Given the description of an element on the screen output the (x, y) to click on. 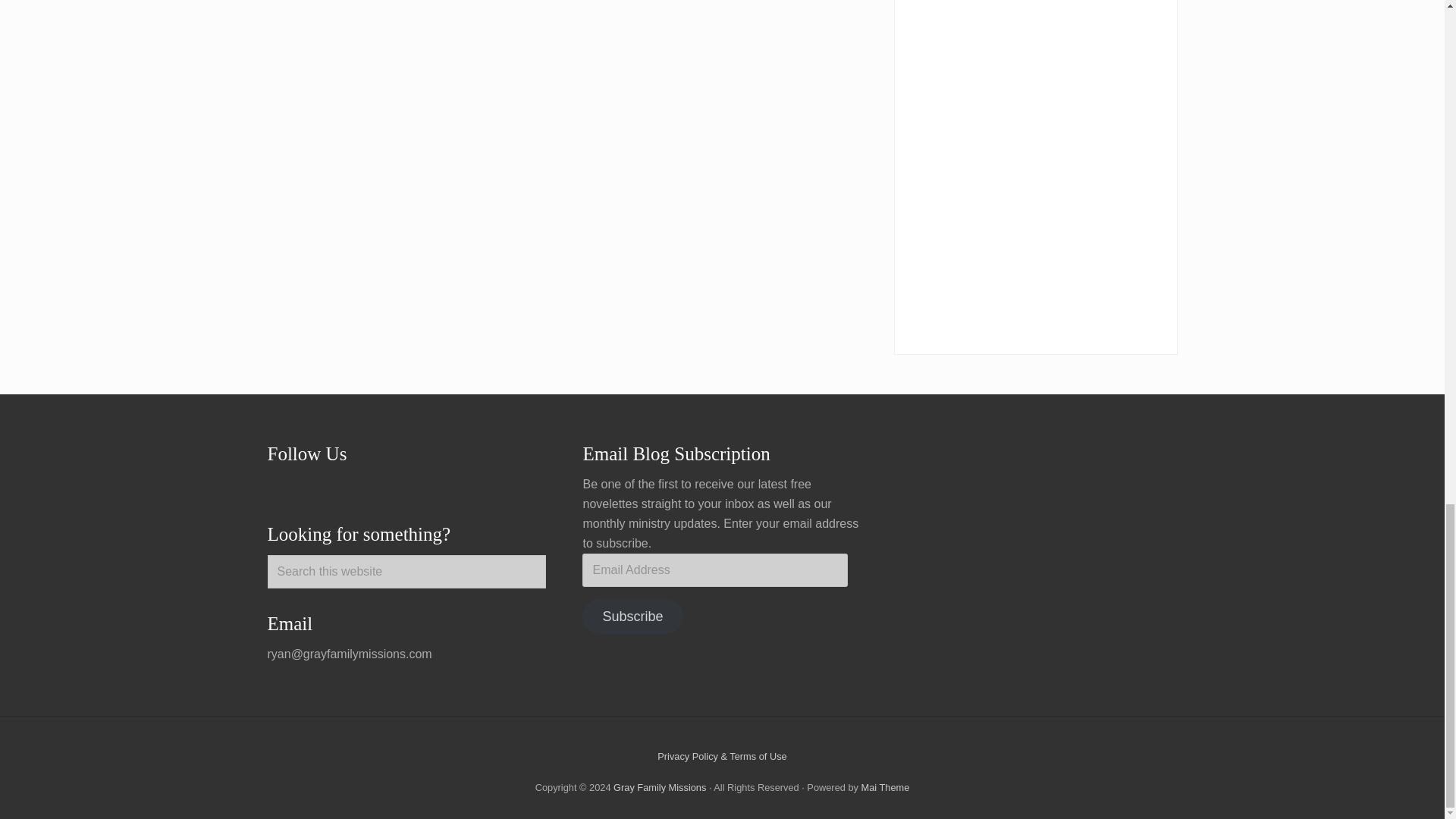
Gray Family Missions (659, 787)
